Given the description of an element on the screen output the (x, y) to click on. 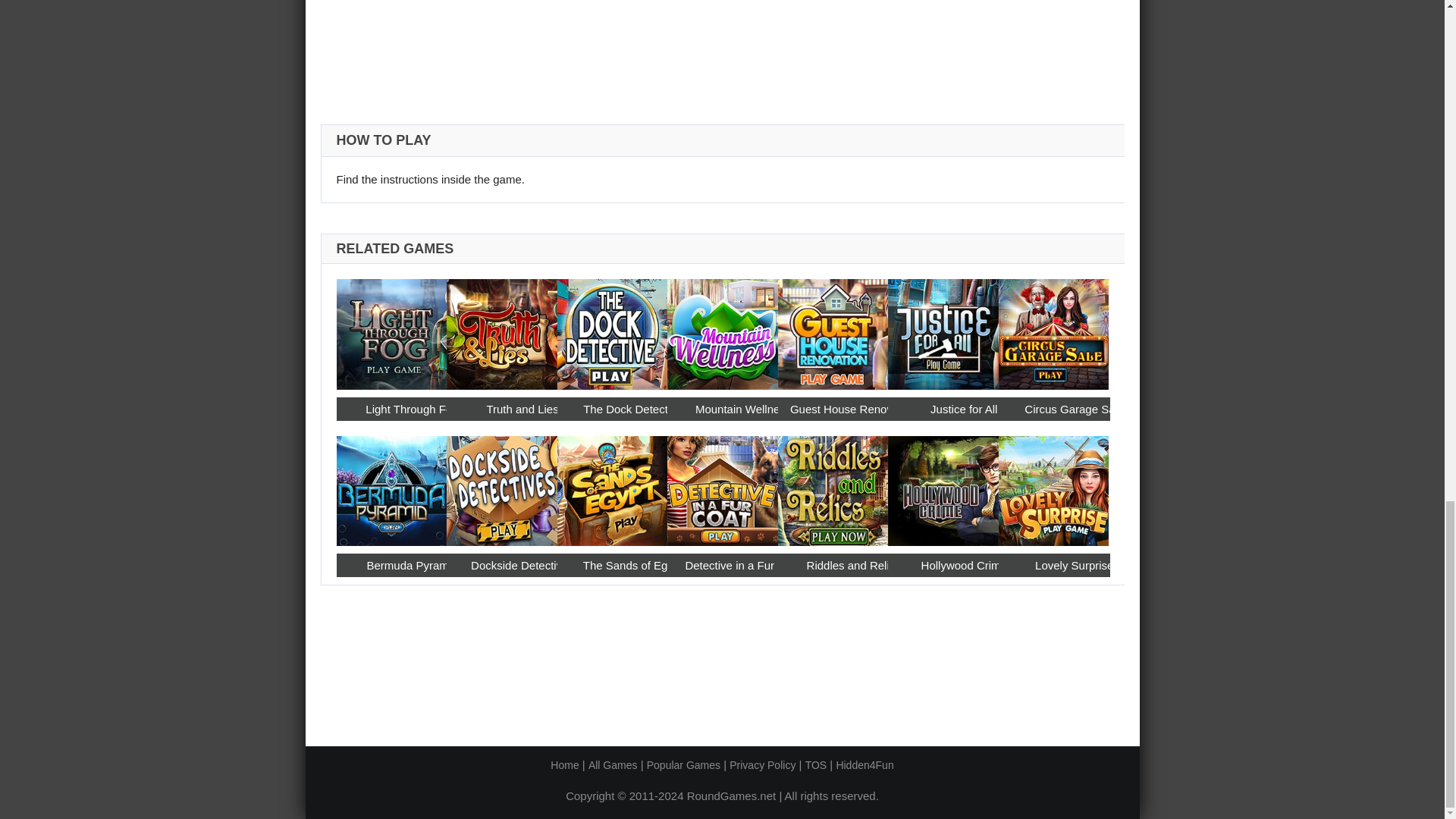
The Dock Detective (612, 328)
Justice for All (943, 328)
Mountain Wellness (721, 328)
Light Through Fog (391, 328)
Guest House Renovation (853, 408)
The Dock Detective (633, 408)
Truth and Lies (501, 328)
Truth and Lies (522, 408)
Guest House Renovation (832, 328)
Mountain Wellness (742, 408)
